Given the description of an element on the screen output the (x, y) to click on. 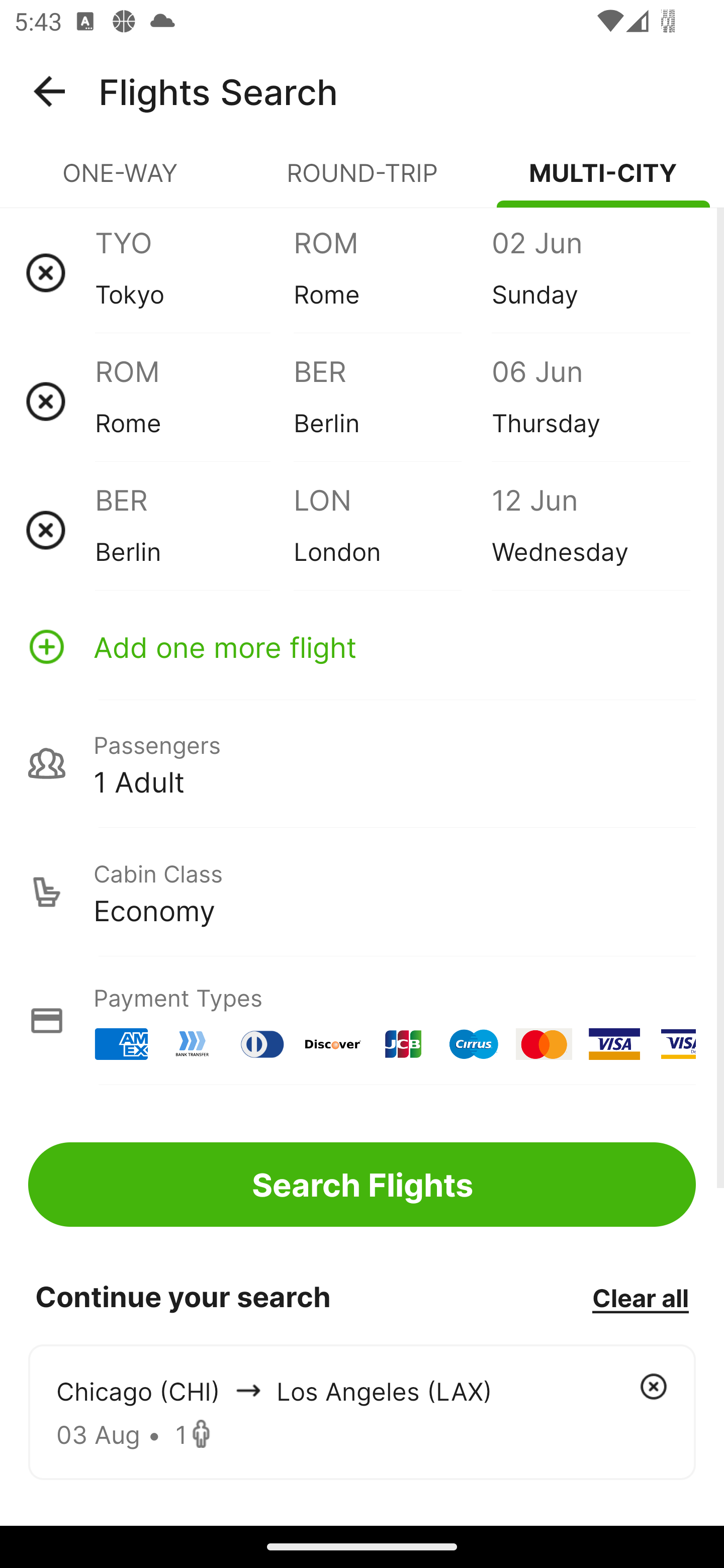
ONE-WAY (120, 180)
ROUND-TRIP (361, 180)
MULTI-CITY (603, 180)
TYO Tokyo (193, 272)
ROM Rome (392, 272)
02 Jun Sunday (590, 272)
ROM Rome (193, 401)
BER Berlin (392, 401)
06 Jun Thursday (590, 401)
BER Berlin (193, 529)
LON London (392, 529)
12 Jun Wednesday (590, 529)
Add one more flight (362, 646)
Passengers 1 Adult (362, 762)
Cabin Class Economy (362, 891)
Payment Types (362, 1020)
Search Flights (361, 1184)
Clear all (640, 1297)
